Given the description of an element on the screen output the (x, y) to click on. 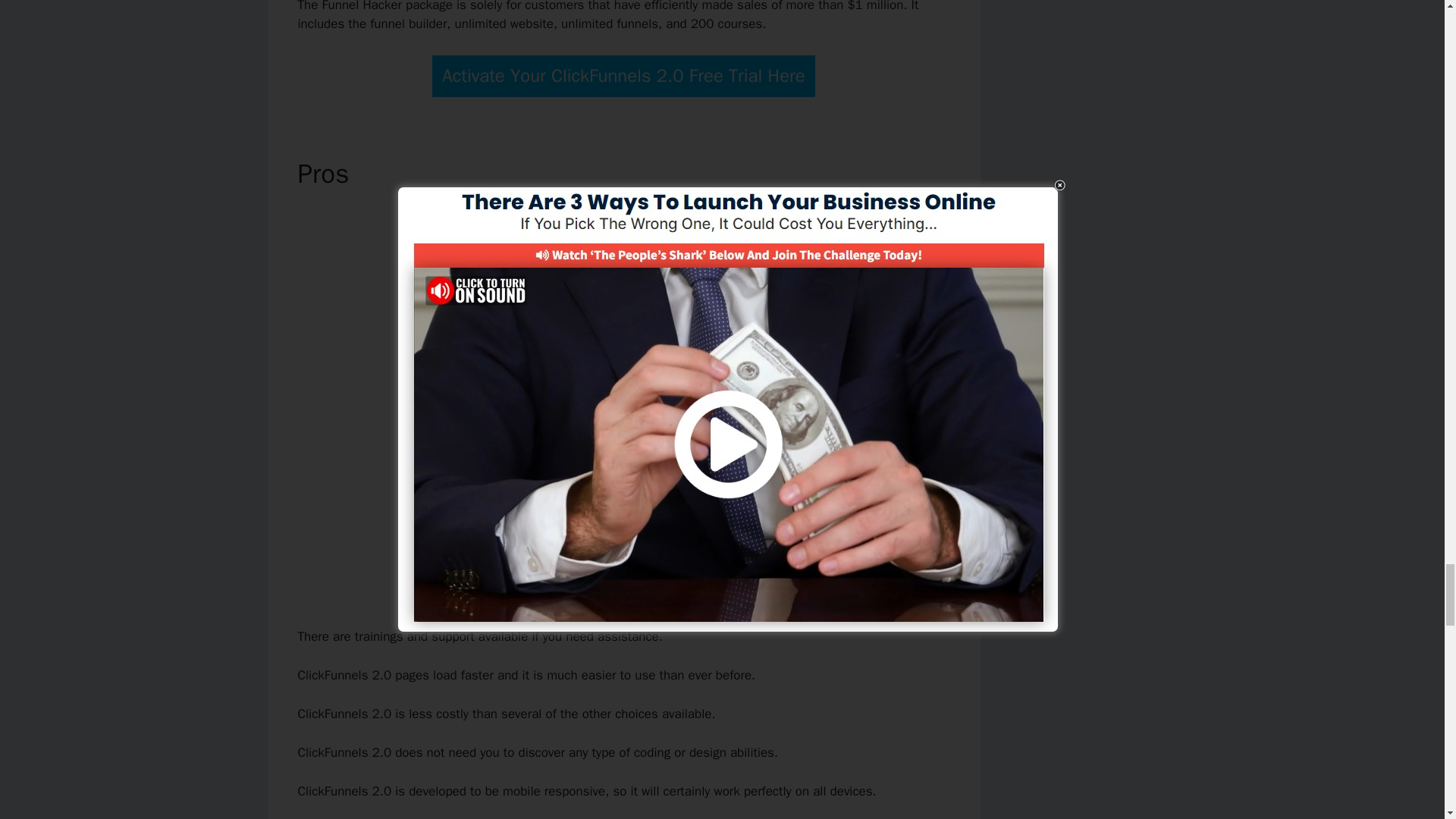
Activate Your ClickFunnels 2.0 Free Trial Here (622, 76)
